Given the description of an element on the screen output the (x, y) to click on. 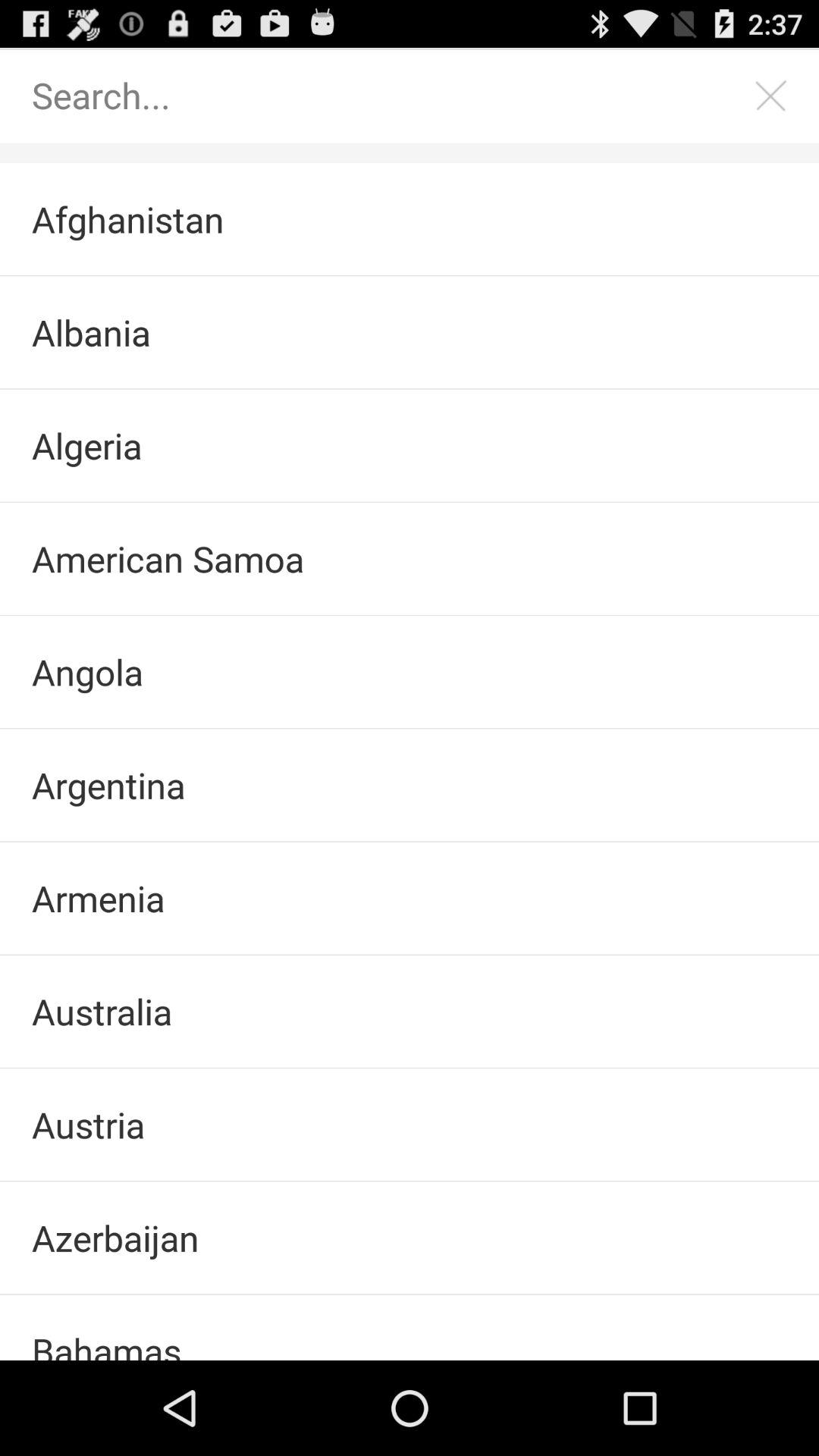
flip until bahamas checkbox (409, 1327)
